Given the description of an element on the screen output the (x, y) to click on. 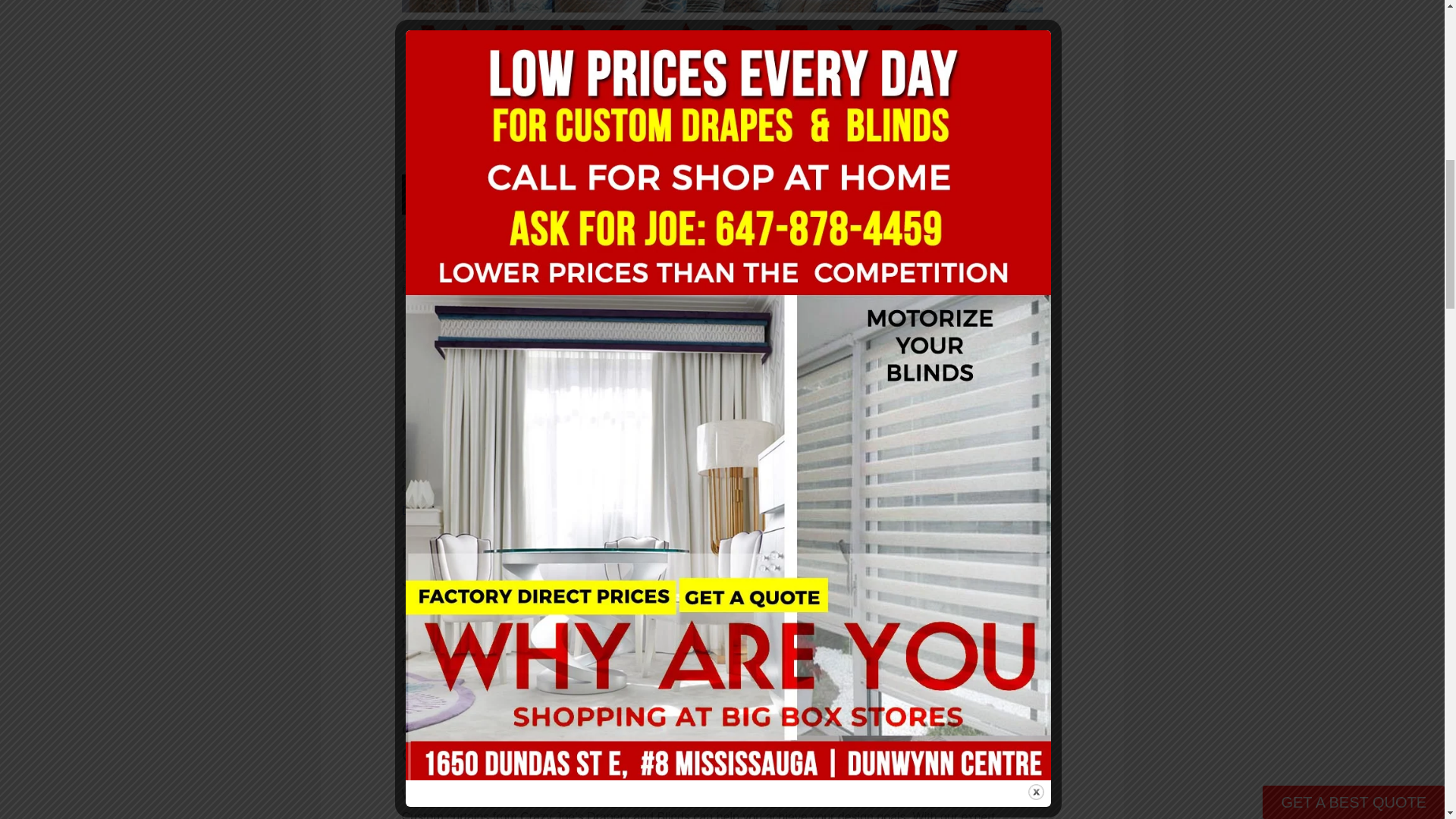
Blinds (488, 510)
drapery (423, 510)
Drapery (423, 510)
blinds (488, 510)
